Given the description of an element on the screen output the (x, y) to click on. 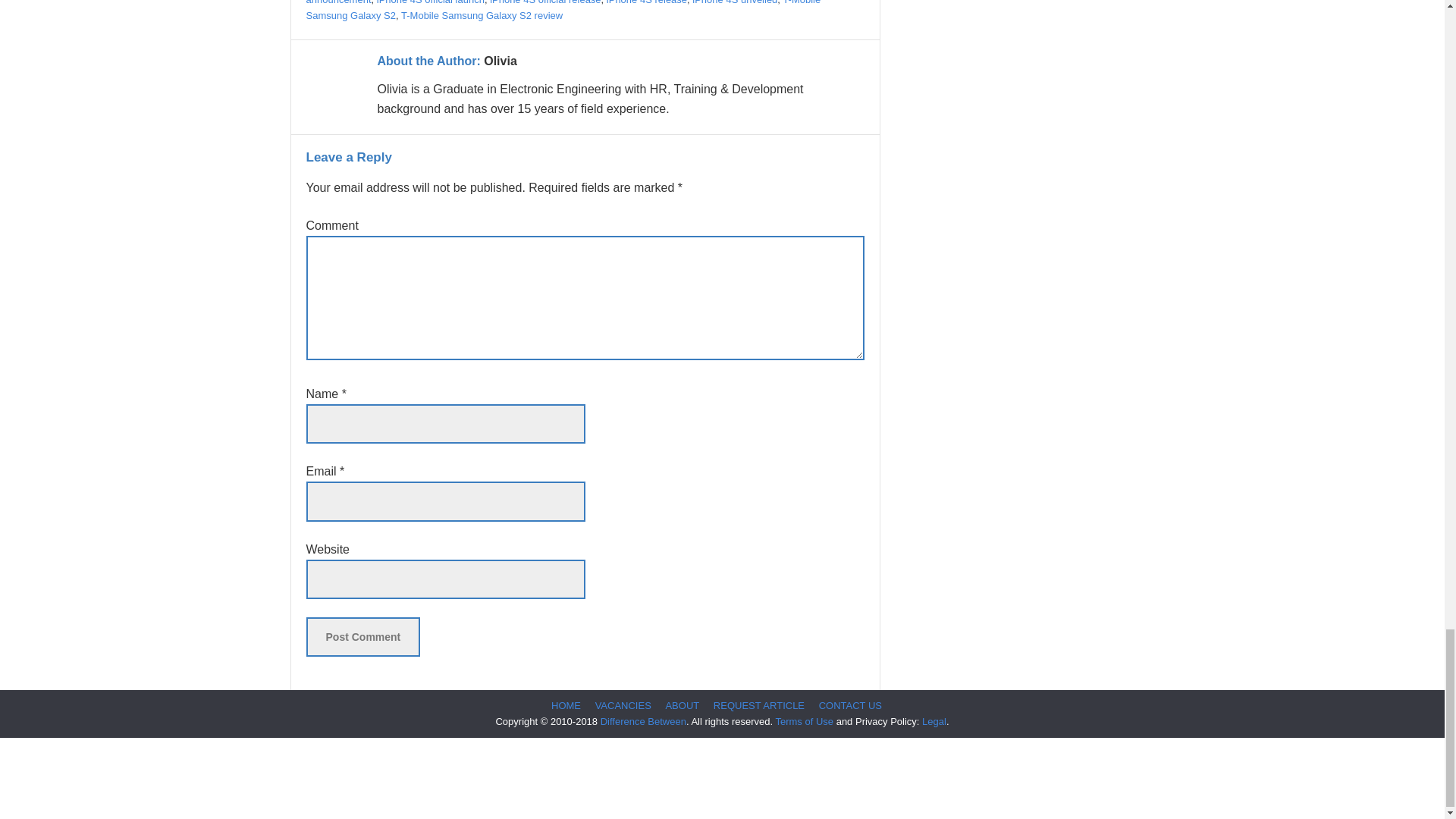
iPhone 4S release (647, 2)
iPhone 4S official release (544, 2)
iPhone 4S unveiled (735, 2)
T-Mobile Samsung Galaxy S2 (563, 10)
T-Mobile Samsung Galaxy S2 review (481, 15)
Post Comment (362, 636)
iPhone 4S official launch (430, 2)
Post Comment (362, 636)
